Given the description of an element on the screen output the (x, y) to click on. 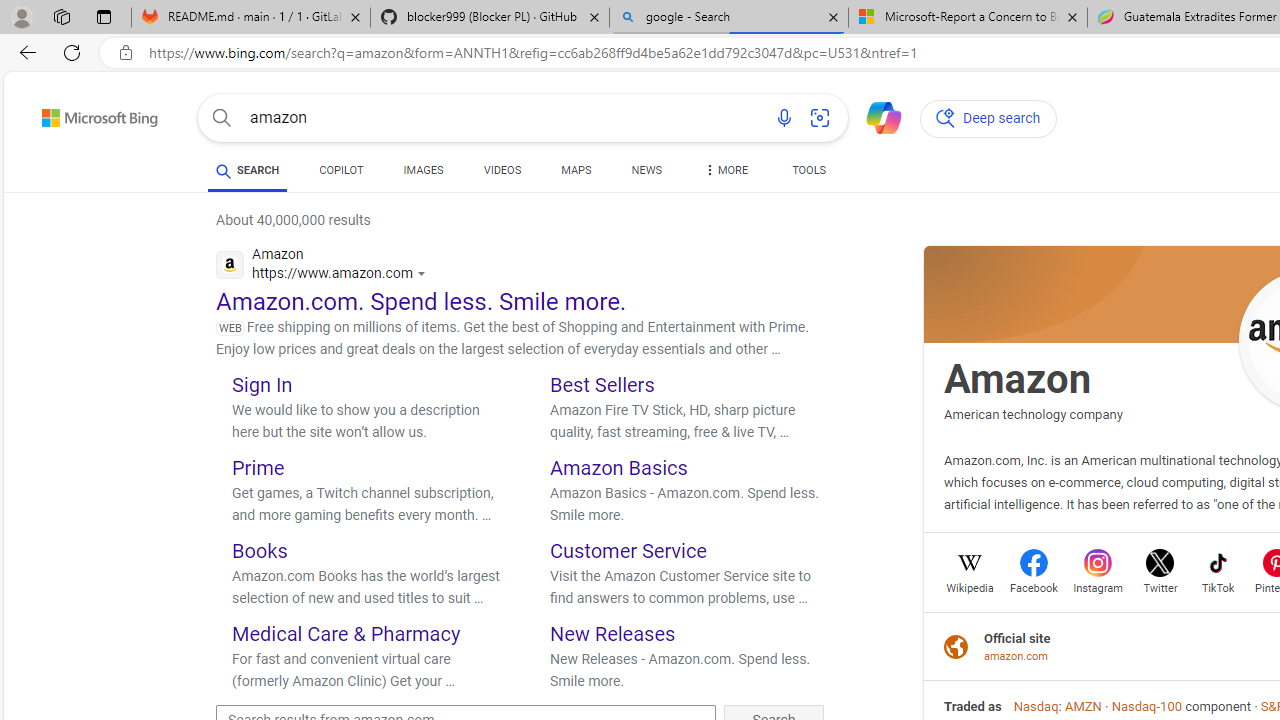
amazon.com (1017, 655)
Nasdaq-100 (1146, 706)
Search button (221, 117)
AMZN (1082, 706)
Chat (875, 116)
COPILOT (341, 173)
Best Sellers (602, 384)
American technology company (1033, 413)
Medical Care & Pharmacy (345, 632)
NEWS (646, 173)
Customer Service (628, 550)
Back to Bing search (87, 113)
Chat (875, 116)
